Given the description of an element on the screen output the (x, y) to click on. 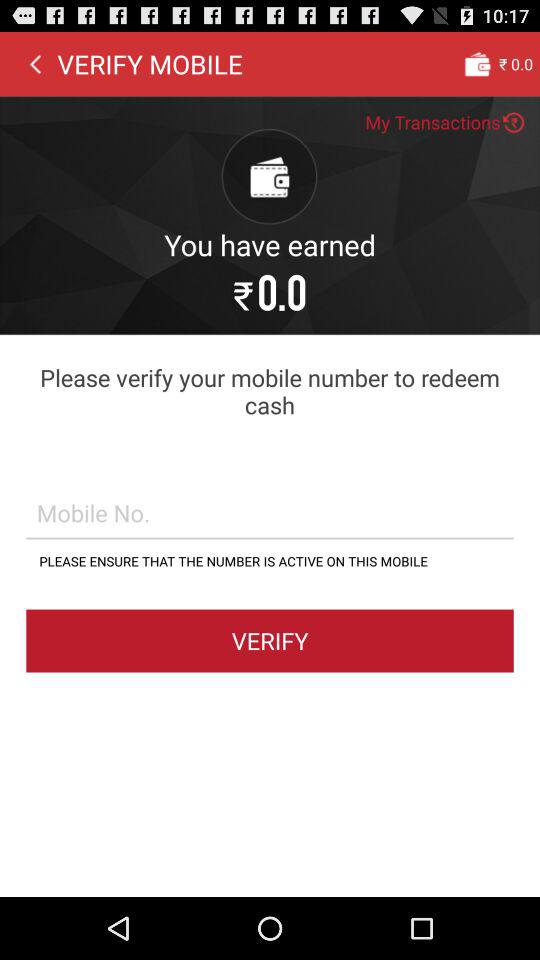
press the item next to verify mobile (35, 63)
